Given the description of an element on the screen output the (x, y) to click on. 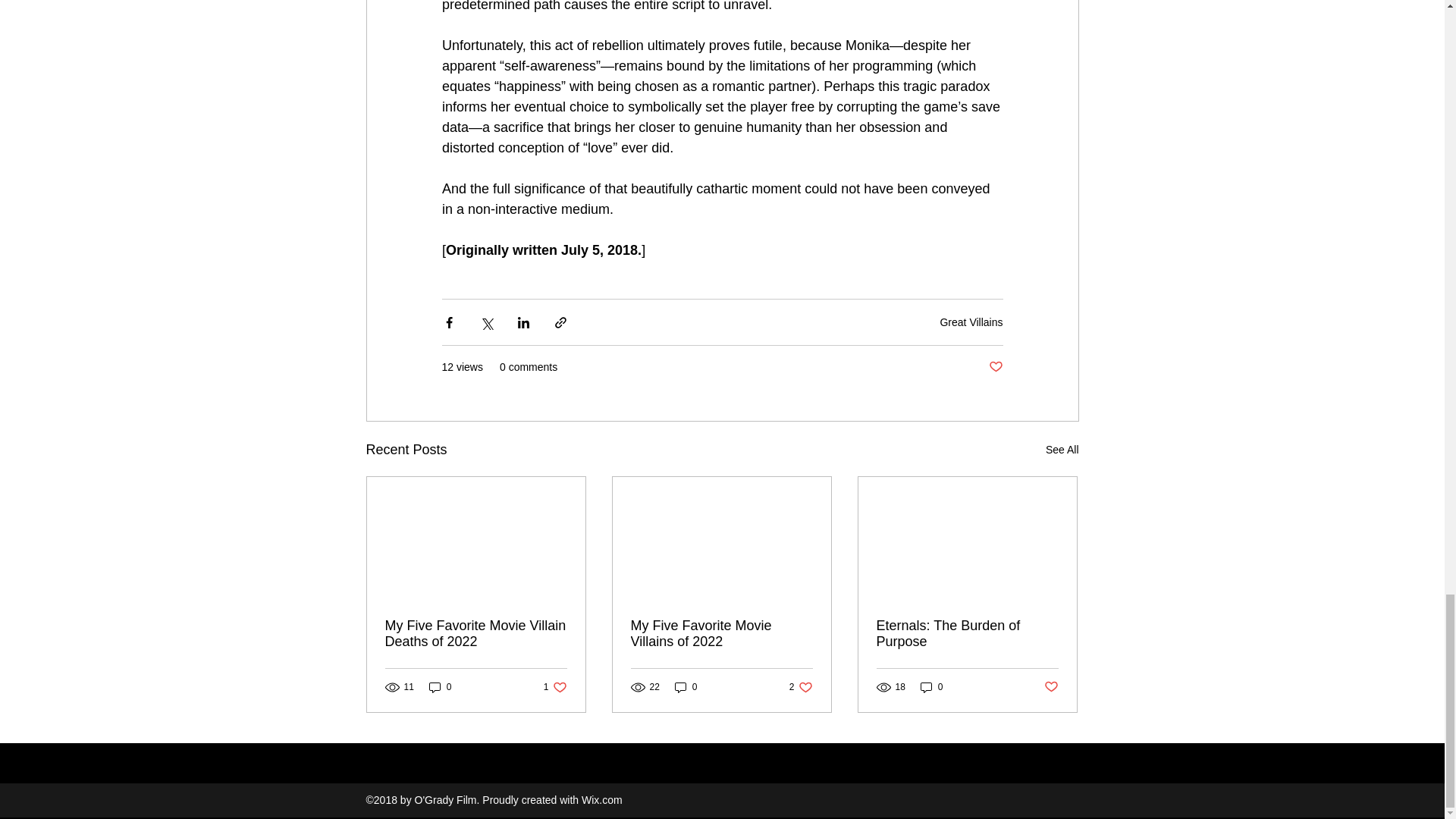
0 (685, 687)
Great Villains (971, 322)
0 (440, 687)
Post not marked as liked (995, 367)
My Five Favorite Movie Villain Deaths of 2022 (476, 634)
See All (800, 687)
My Five Favorite Movie Villains of 2022 (555, 687)
